Given the description of an element on the screen output the (x, y) to click on. 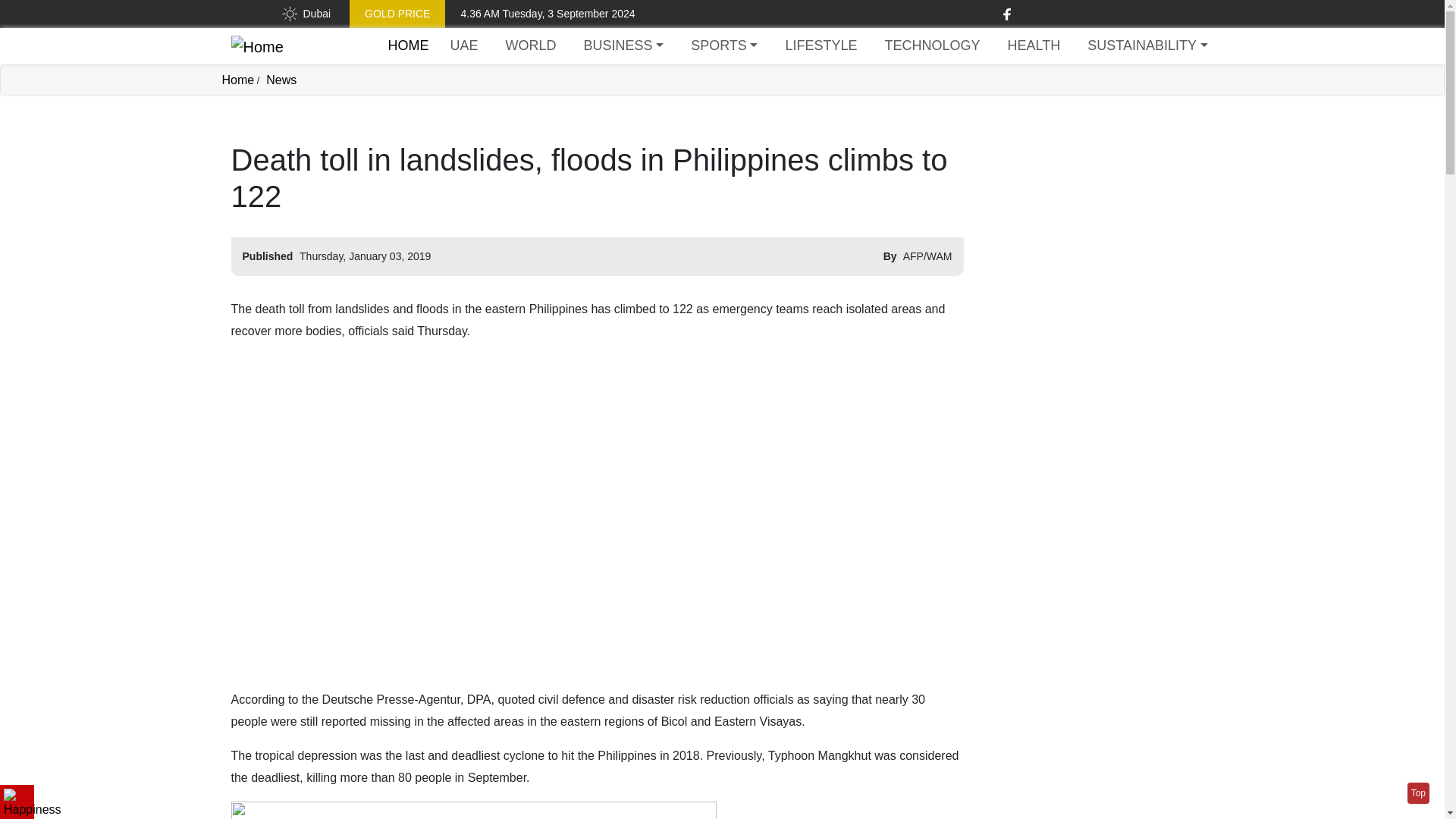
UAE (464, 46)
Dubai (305, 13)
HEALTH (1034, 46)
Home (256, 46)
GOLD PRICE (397, 13)
SPORTS (723, 46)
News (281, 79)
WORLD (530, 46)
HOME (408, 45)
BUSINESS (623, 46)
